Given the description of an element on the screen output the (x, y) to click on. 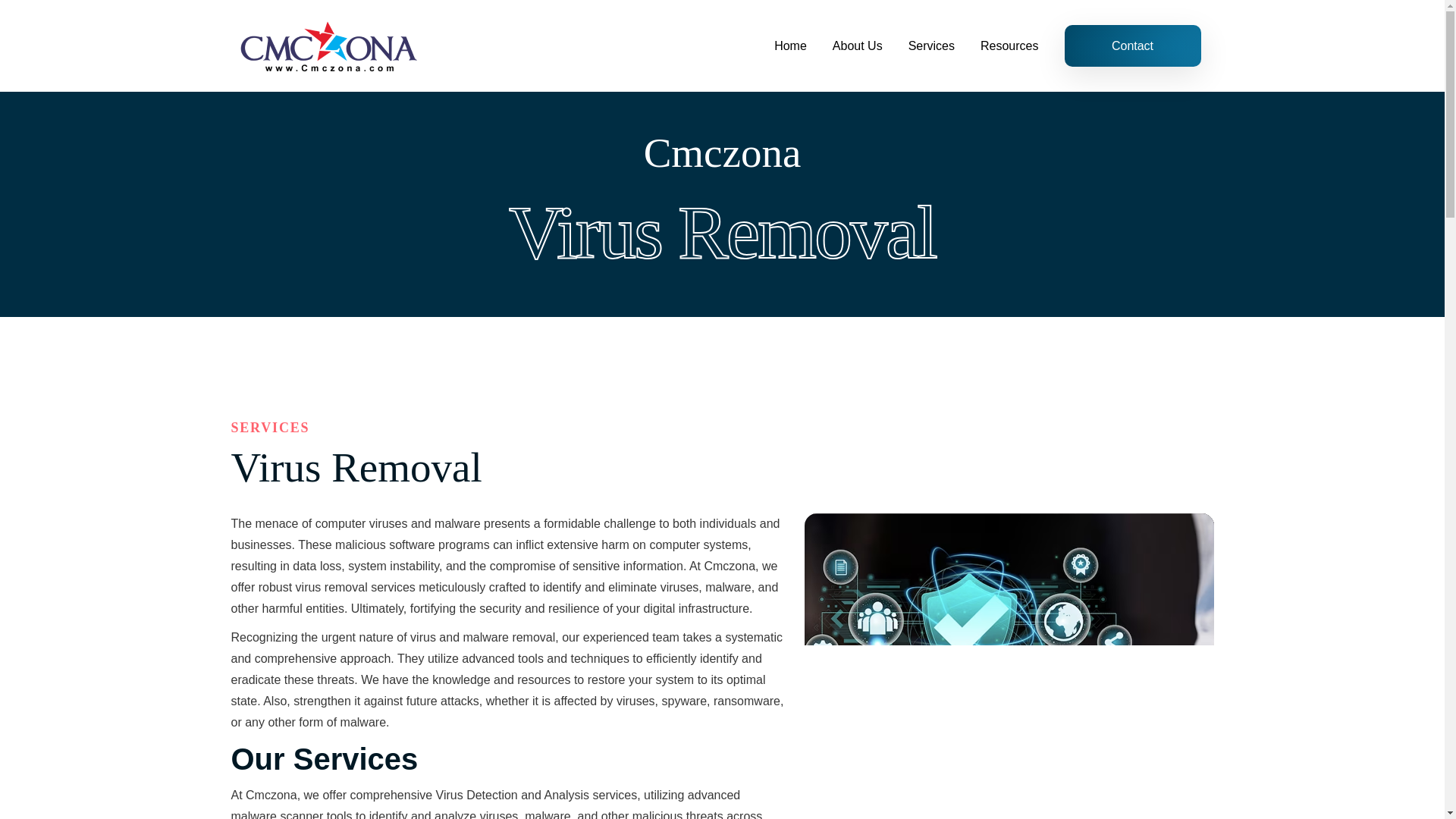
About Us (857, 45)
Home (790, 45)
Resources (1008, 45)
Services (931, 45)
Contact (1132, 45)
